Given the description of an element on the screen output the (x, y) to click on. 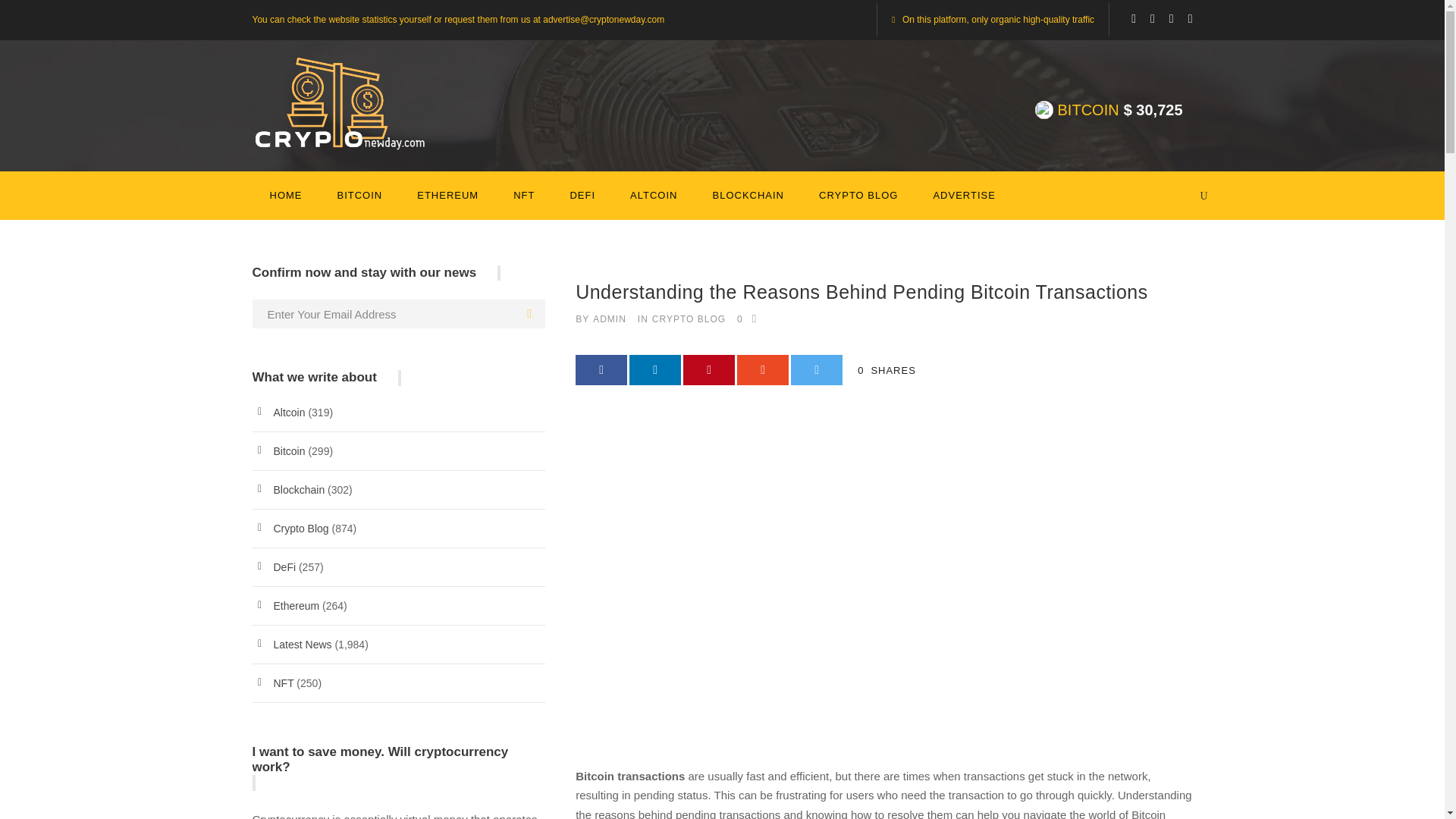
CRYPTO BLOG (688, 318)
Posts by admin (609, 318)
BLOCKCHAIN (747, 203)
BITCOIN (358, 203)
CRYPTO BLOG (858, 203)
ADMIN (609, 318)
ALTCOIN (653, 203)
ETHEREUM (447, 203)
HOME (285, 203)
